Given the description of an element on the screen output the (x, y) to click on. 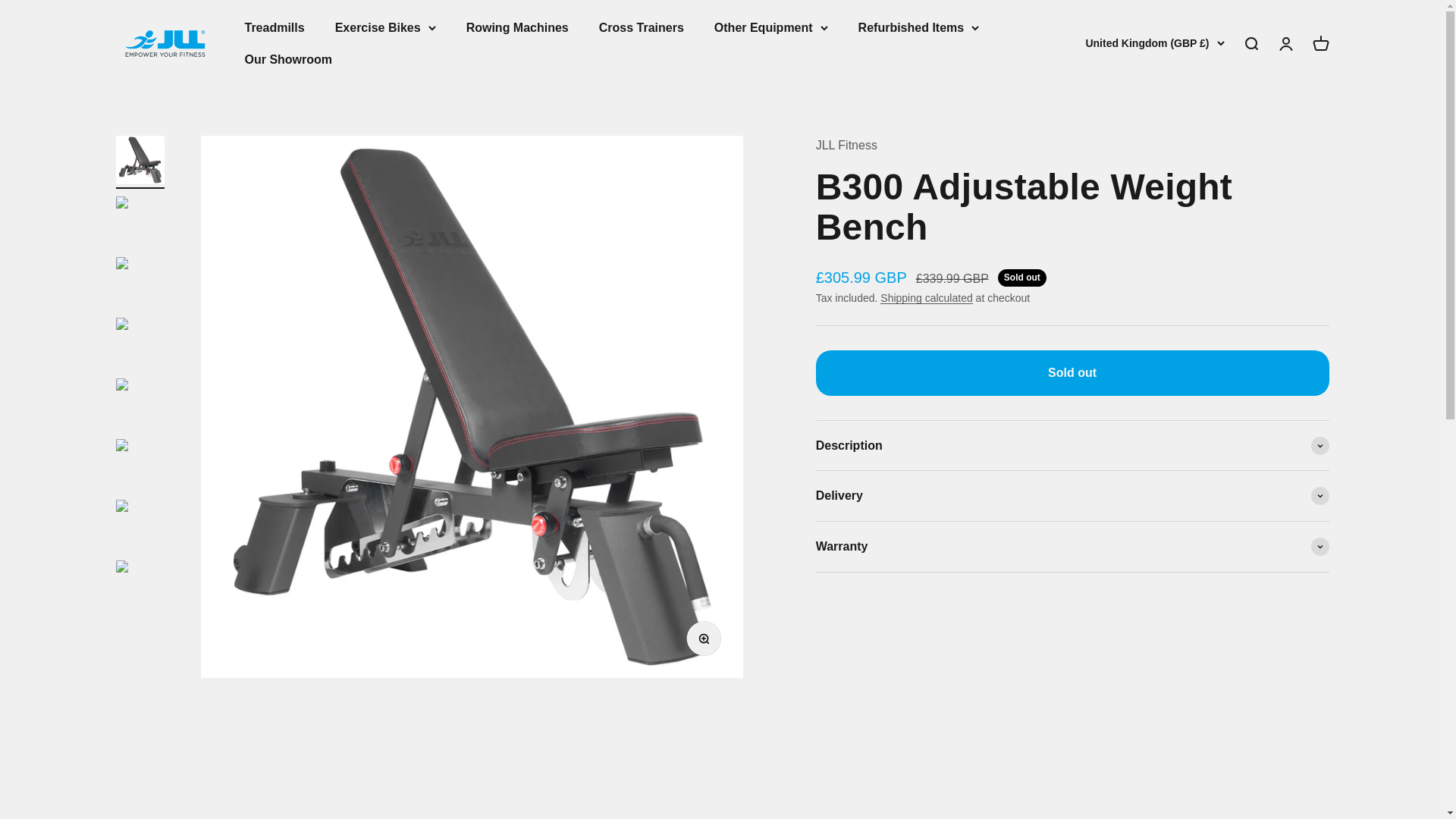
Our Showroom (287, 59)
Rowing Machines (517, 27)
Cross Trainers (641, 27)
Treadmills (274, 27)
Open account page (1319, 44)
Open search (1285, 44)
JLL Fitness (1250, 44)
